Given the description of an element on the screen output the (x, y) to click on. 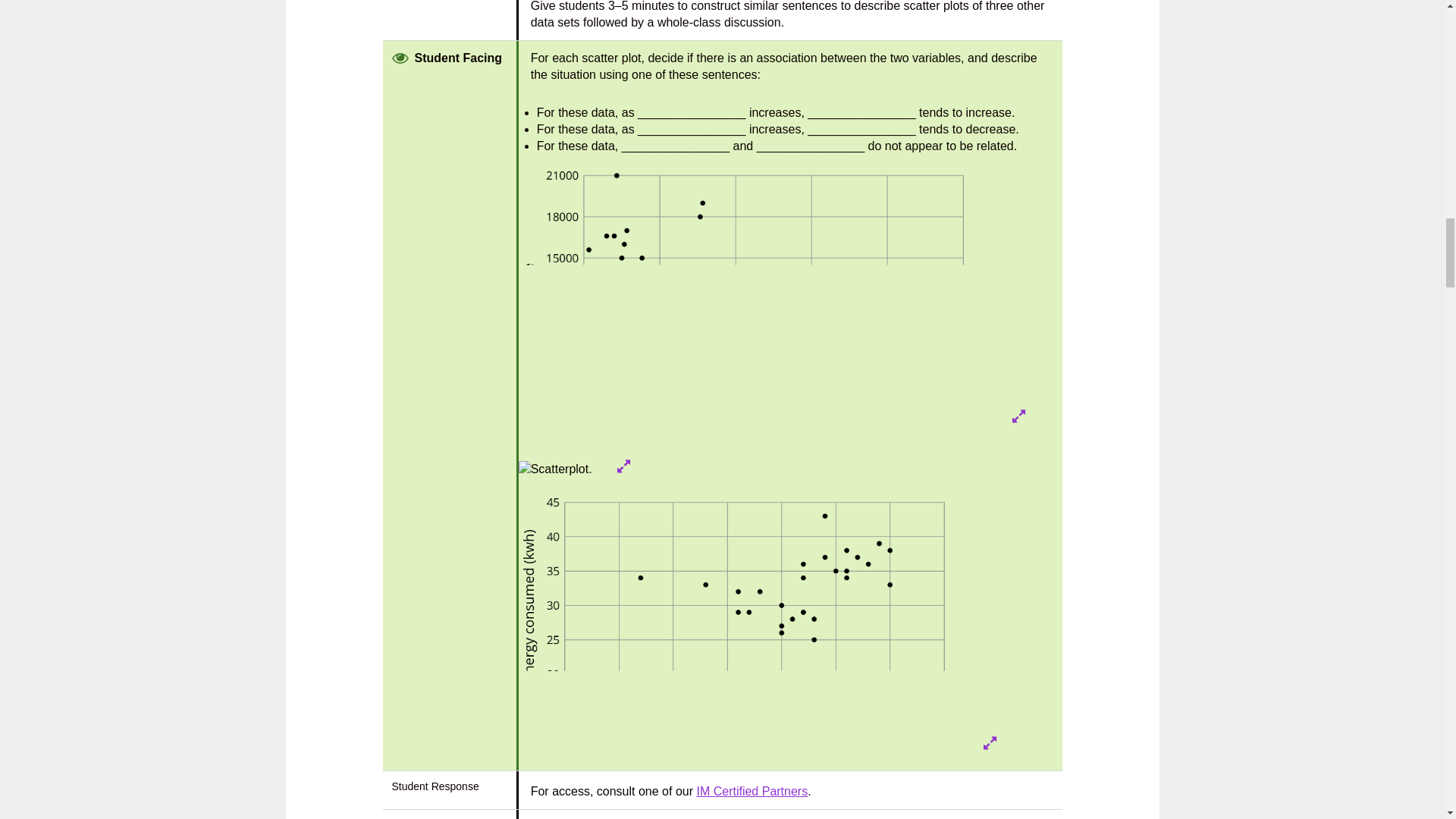
Expand image (1018, 416)
Expand image (990, 743)
Expand image (623, 466)
